Given the description of an element on the screen output the (x, y) to click on. 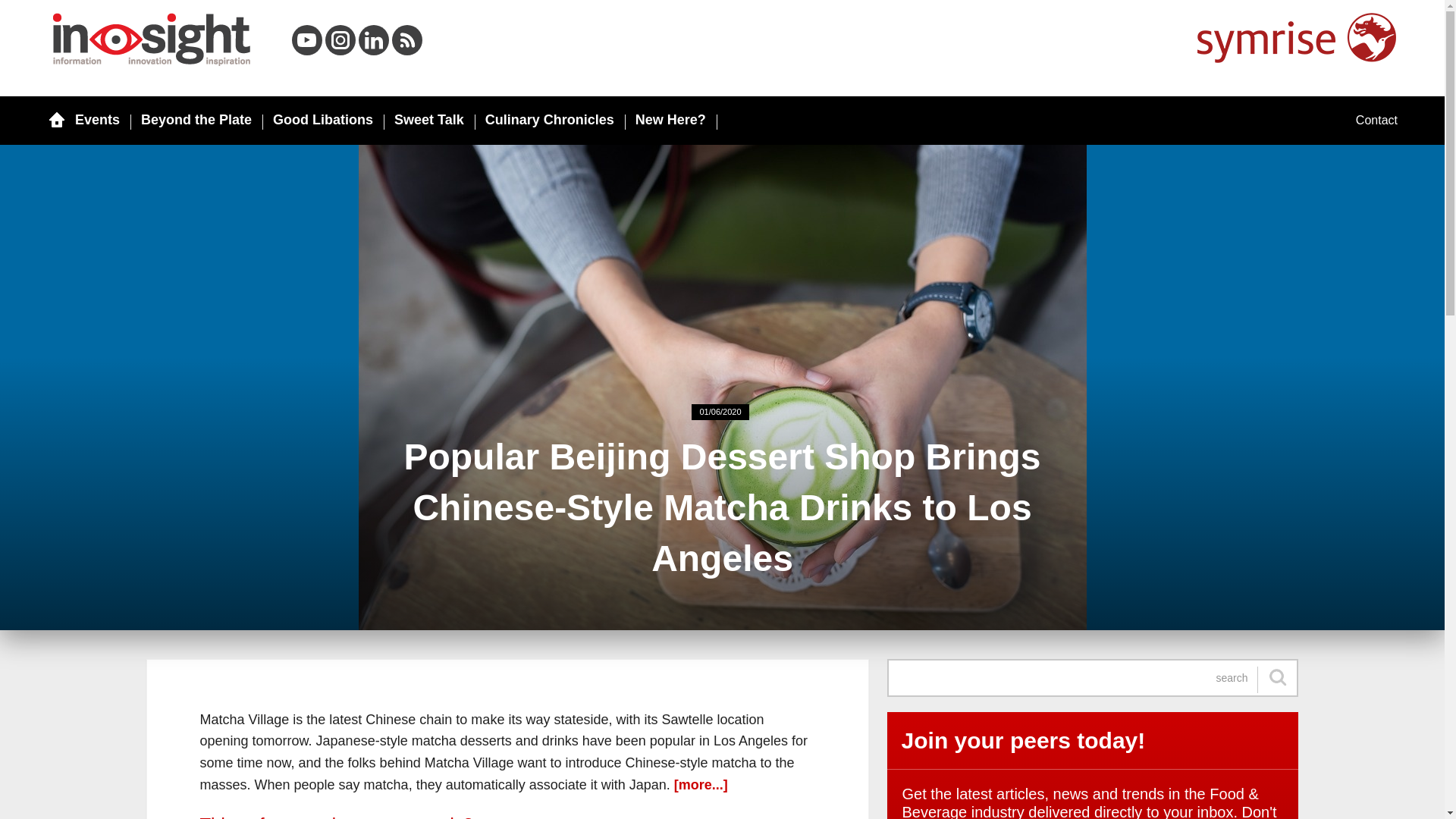
Good Libations (323, 120)
Home (406, 39)
Home (151, 39)
Sweet Talk (429, 120)
Sweet Talk (429, 120)
Symrise (1296, 37)
Culinary Chronicles (549, 120)
Culinary Chronicles (549, 120)
Home (56, 119)
Beyond the Plate (196, 120)
Beyond the Plate (196, 120)
Good Libations (323, 120)
Events (97, 120)
New Here? (670, 120)
Contact (1376, 120)
